Given the description of an element on the screen output the (x, y) to click on. 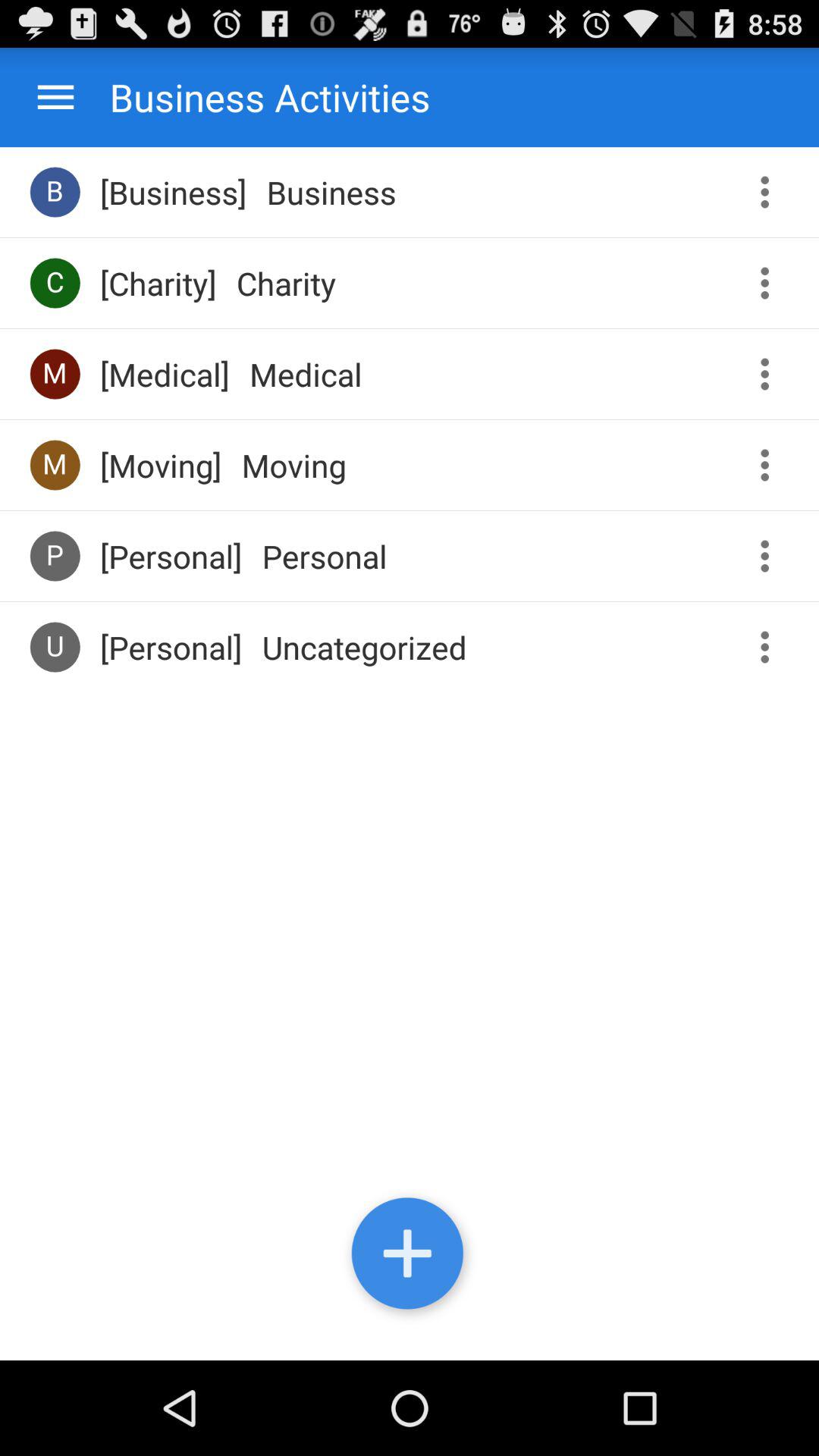
tap the item above c icon (54, 191)
